Given the description of an element on the screen output the (x, y) to click on. 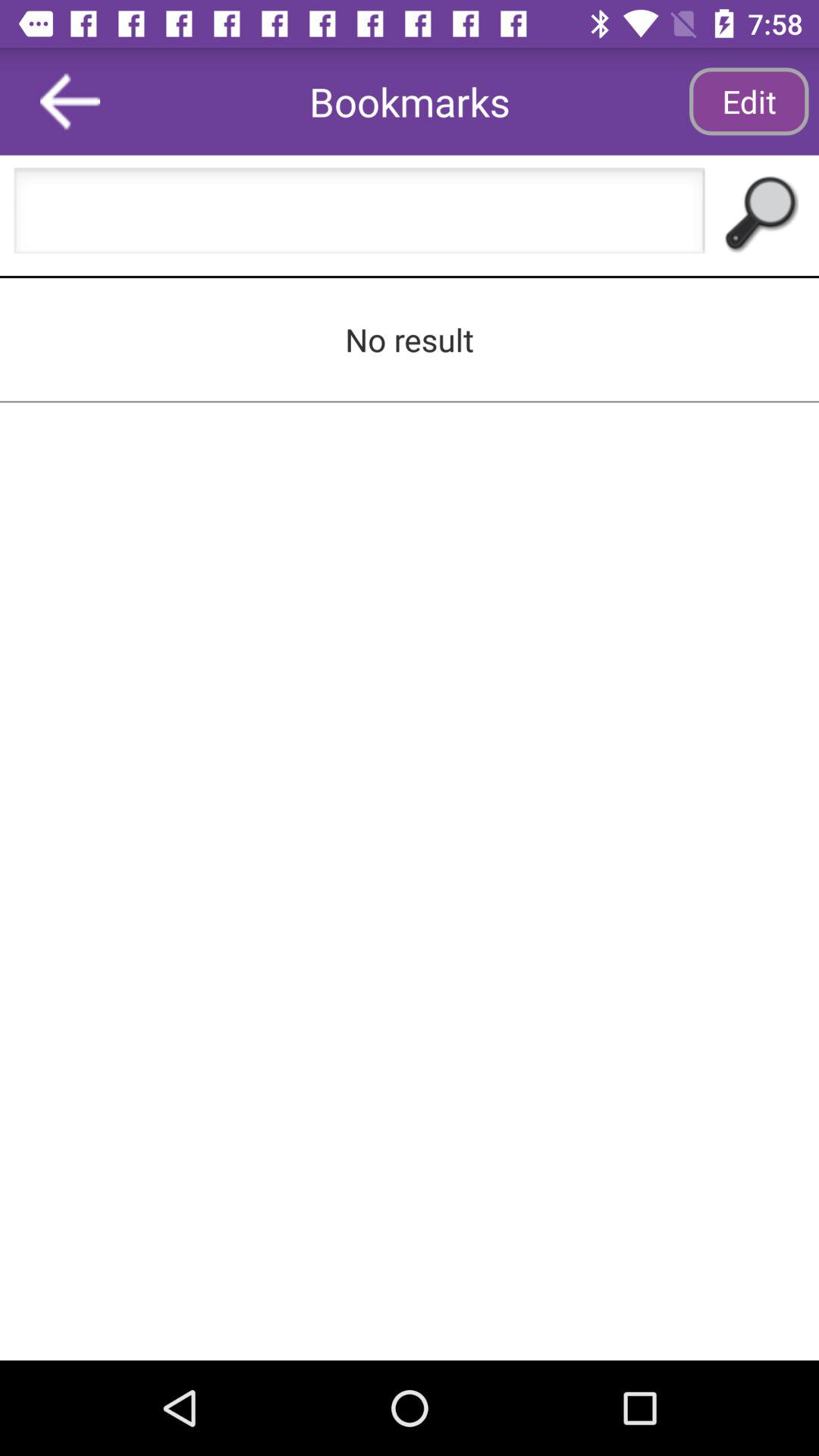
turn off the edit item (748, 101)
